Given the description of an element on the screen output the (x, y) to click on. 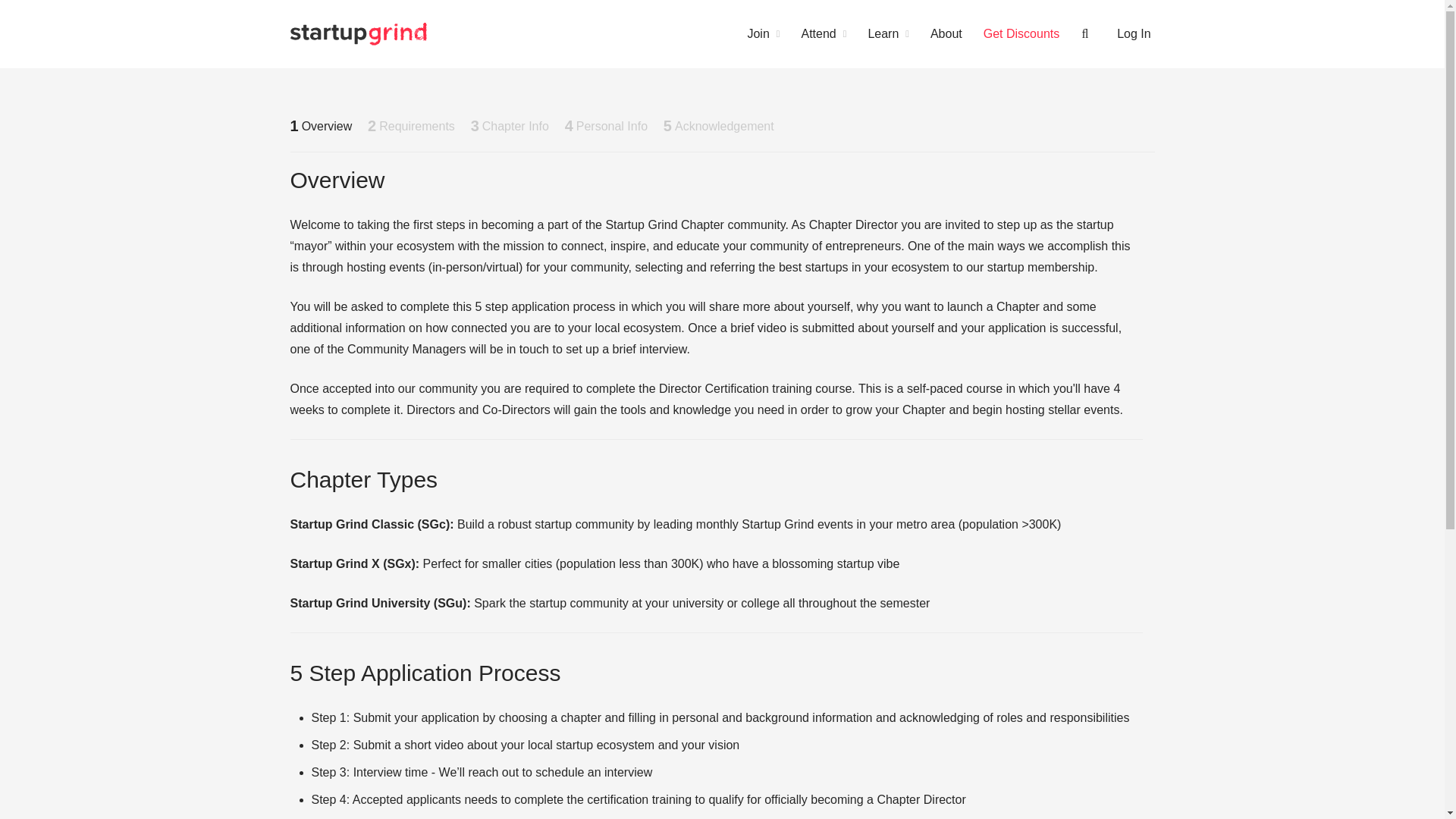
Attend (823, 33)
Learn (888, 33)
Get Discounts (1021, 33)
